Given the description of an element on the screen output the (x, y) to click on. 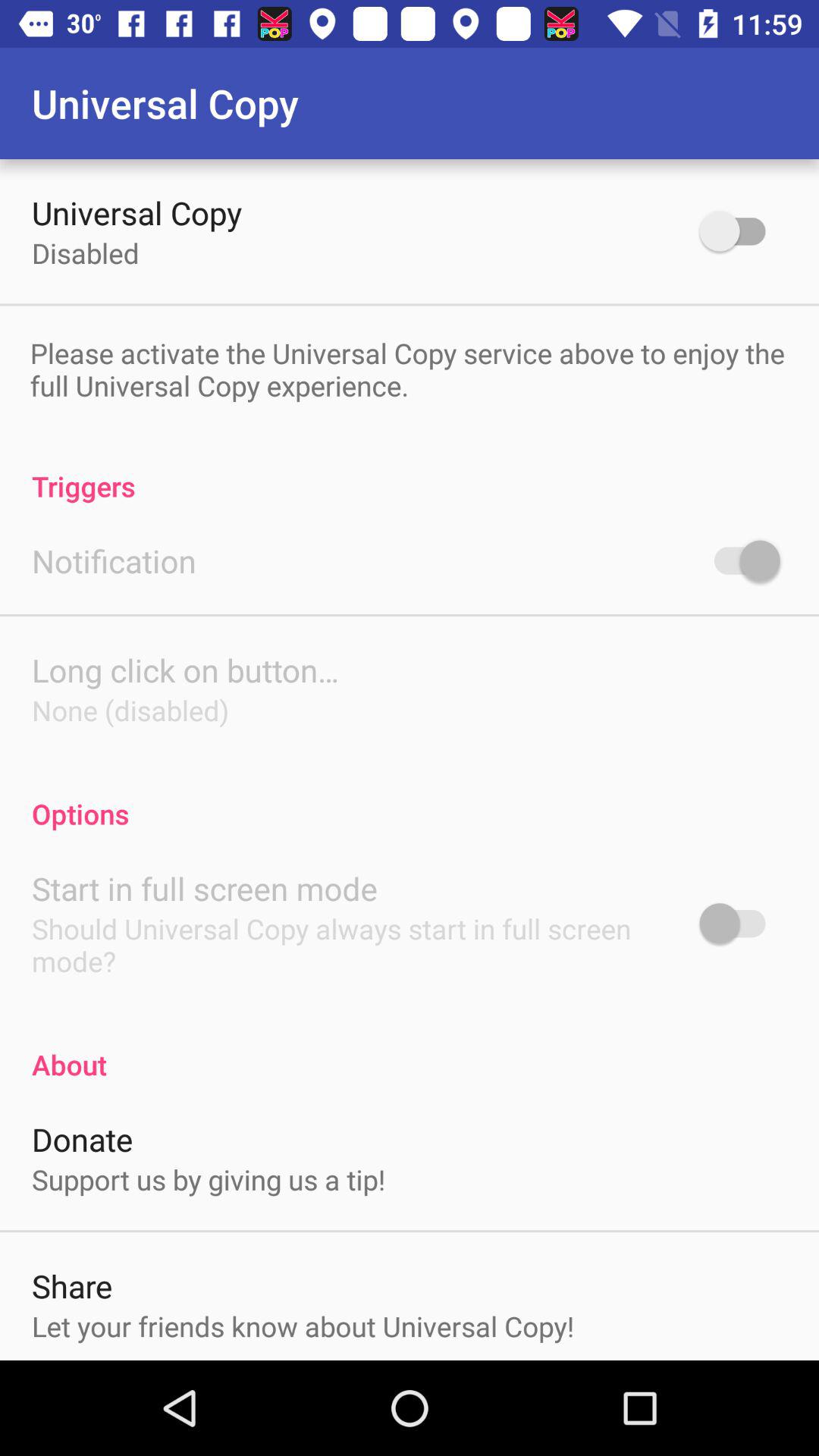
click icon below share icon (302, 1326)
